Given the description of an element on the screen output the (x, y) to click on. 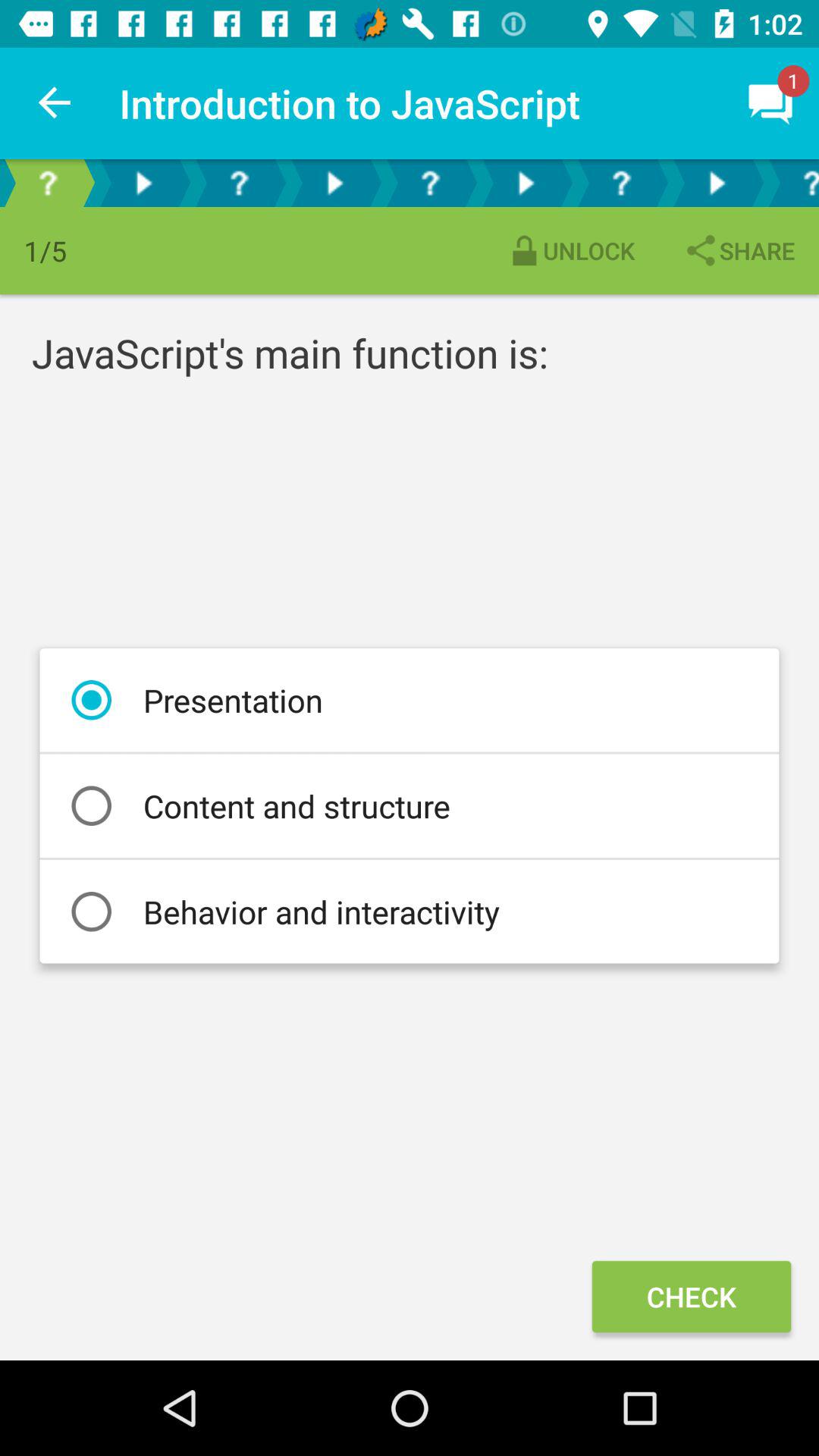
proceed to next segment (143, 183)
